Given the description of an element on the screen output the (x, y) to click on. 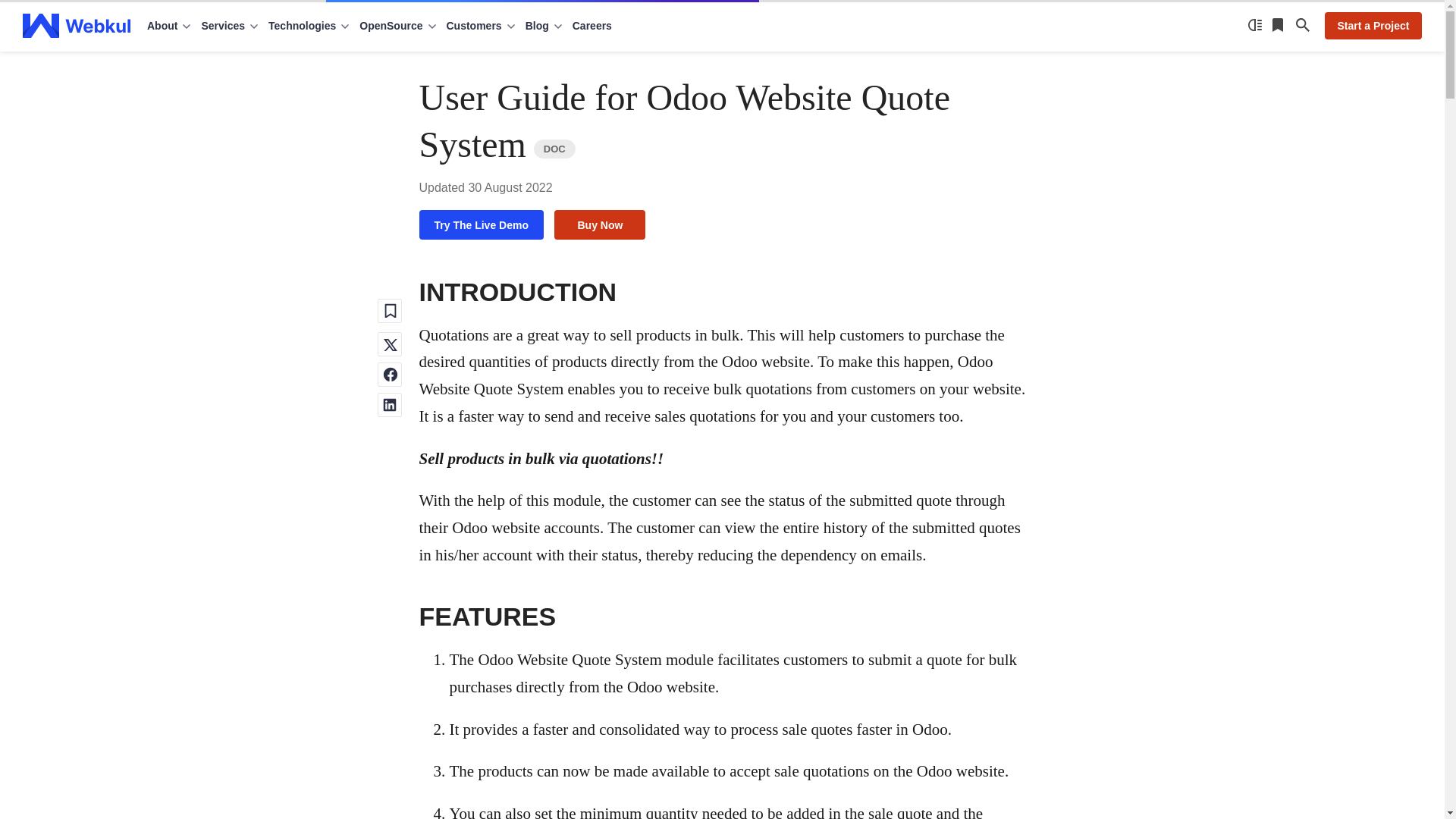
About (169, 25)
Services (229, 25)
